Given the description of an element on the screen output the (x, y) to click on. 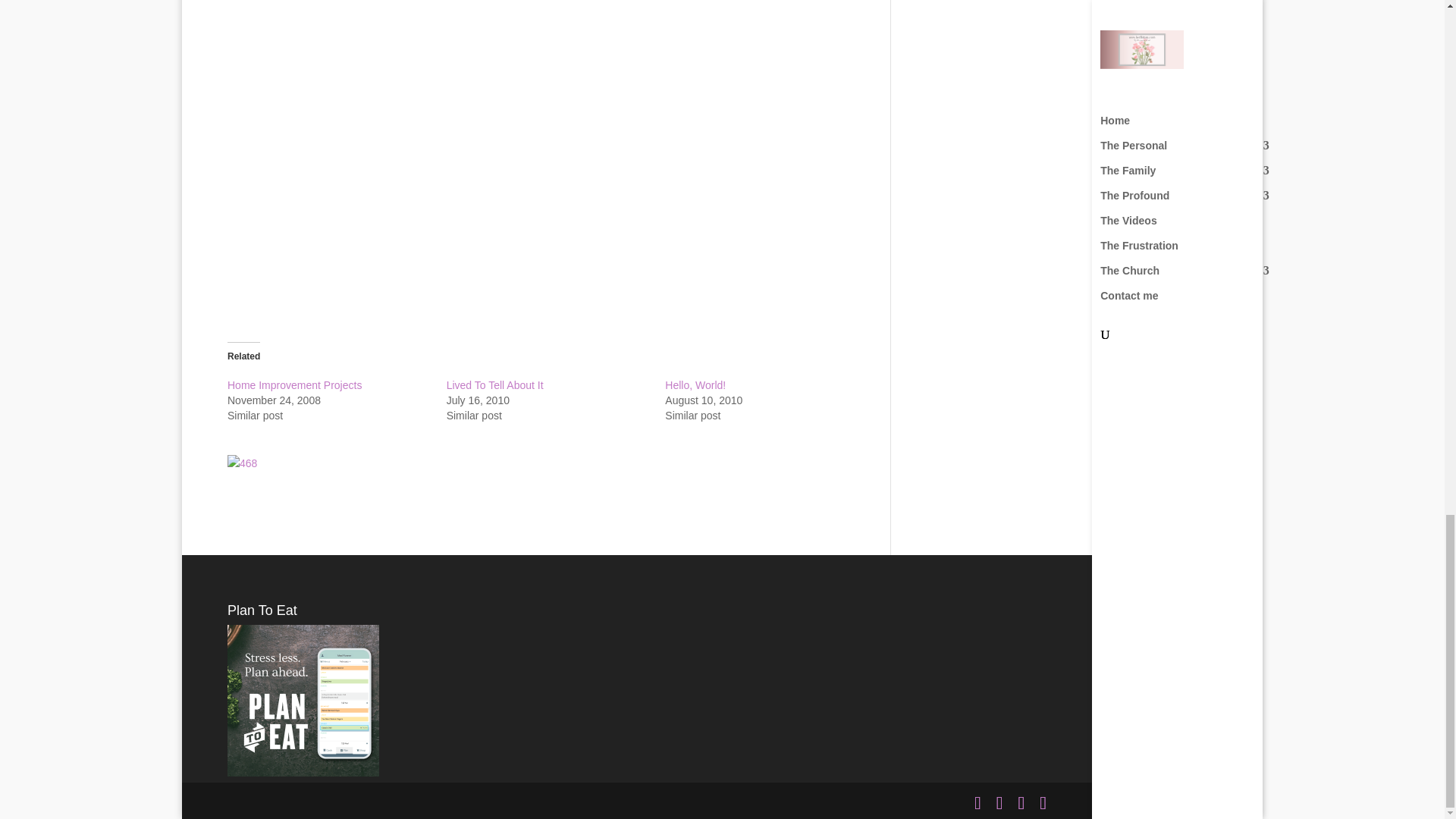
Simple Meal Planning - Plan to Eat (302, 772)
Home Improvement Projects (294, 385)
Lived To Tell About It (494, 385)
Hello, World! (695, 385)
